Given the description of an element on the screen output the (x, y) to click on. 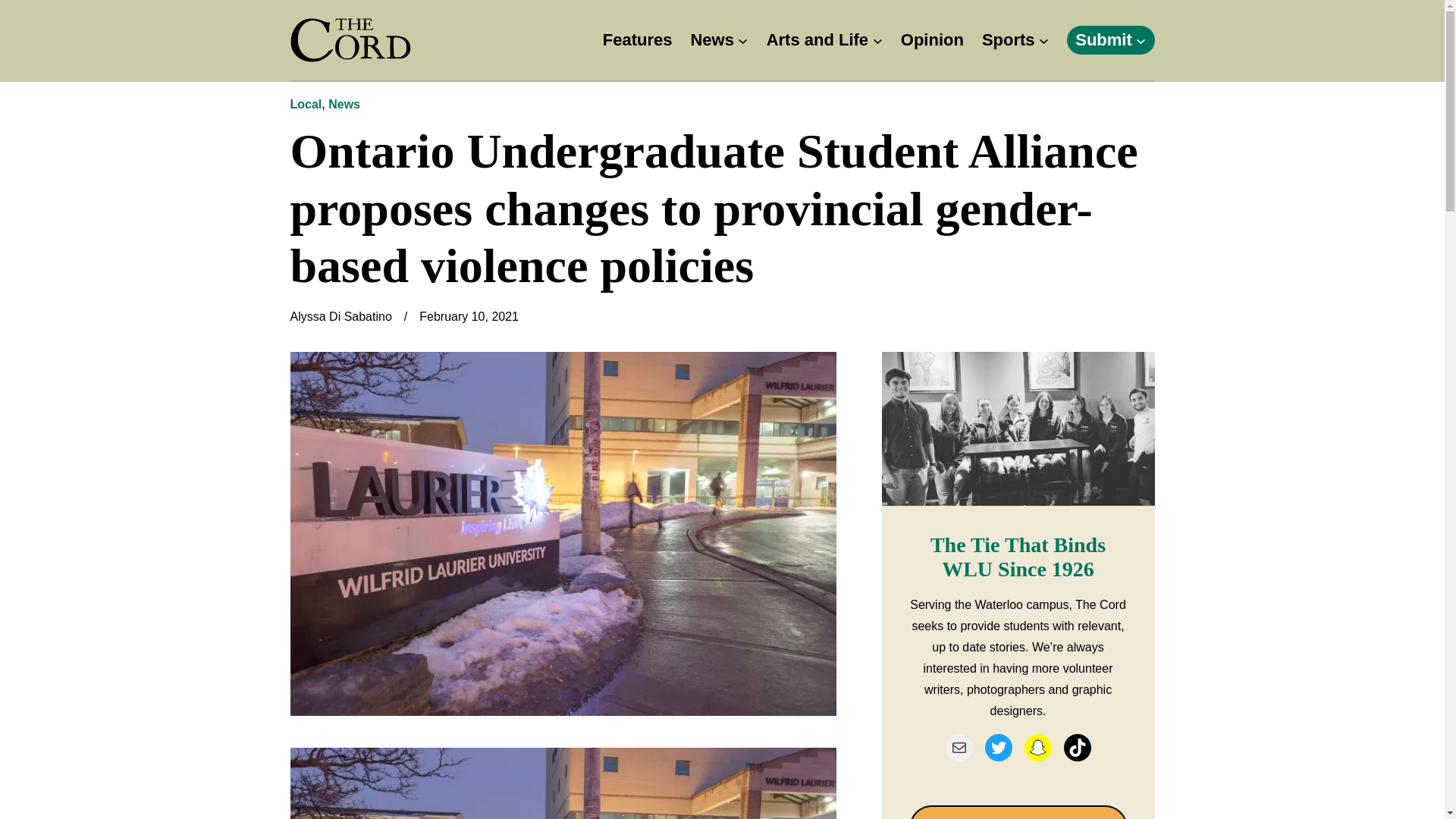
Arts and Life (817, 40)
News (711, 40)
Features (637, 40)
News (344, 103)
Submit (1103, 40)
Sports (1008, 40)
Opinion (932, 40)
Local (305, 103)
